Given the description of an element on the screen output the (x, y) to click on. 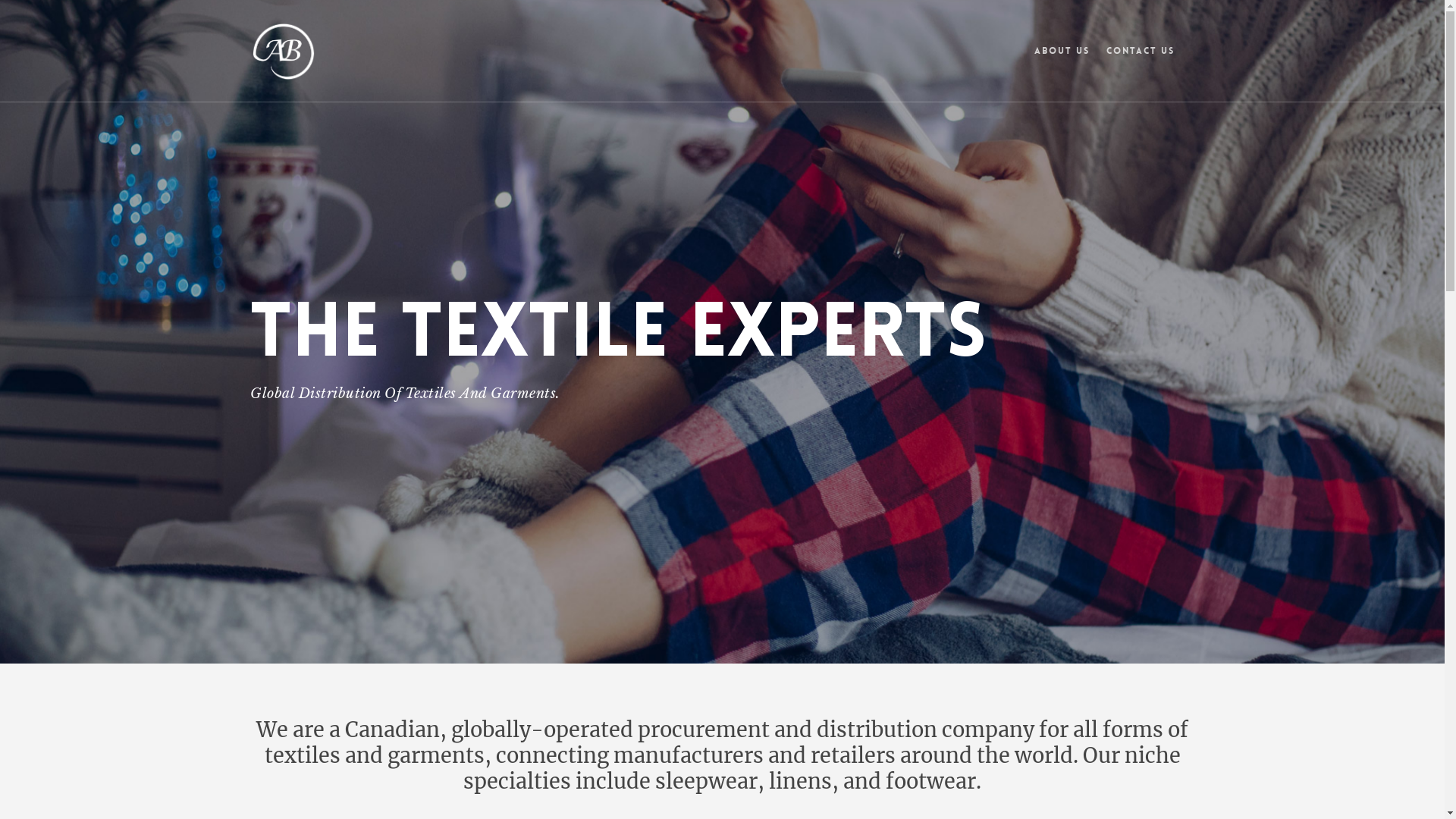
About Us Element type: text (1061, 61)
Contact Us Element type: text (1140, 61)
